Given the description of an element on the screen output the (x, y) to click on. 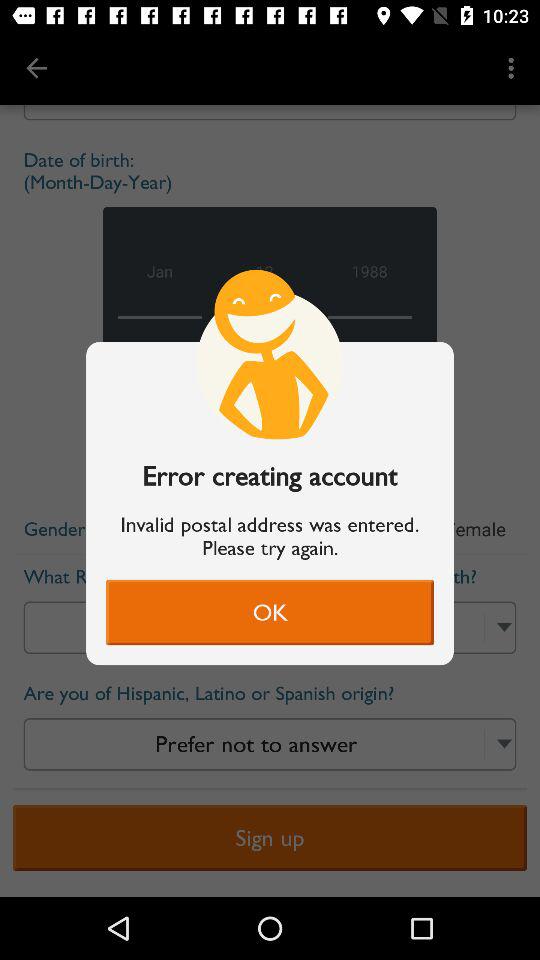
turn off ok item (269, 612)
